Given the description of an element on the screen output the (x, y) to click on. 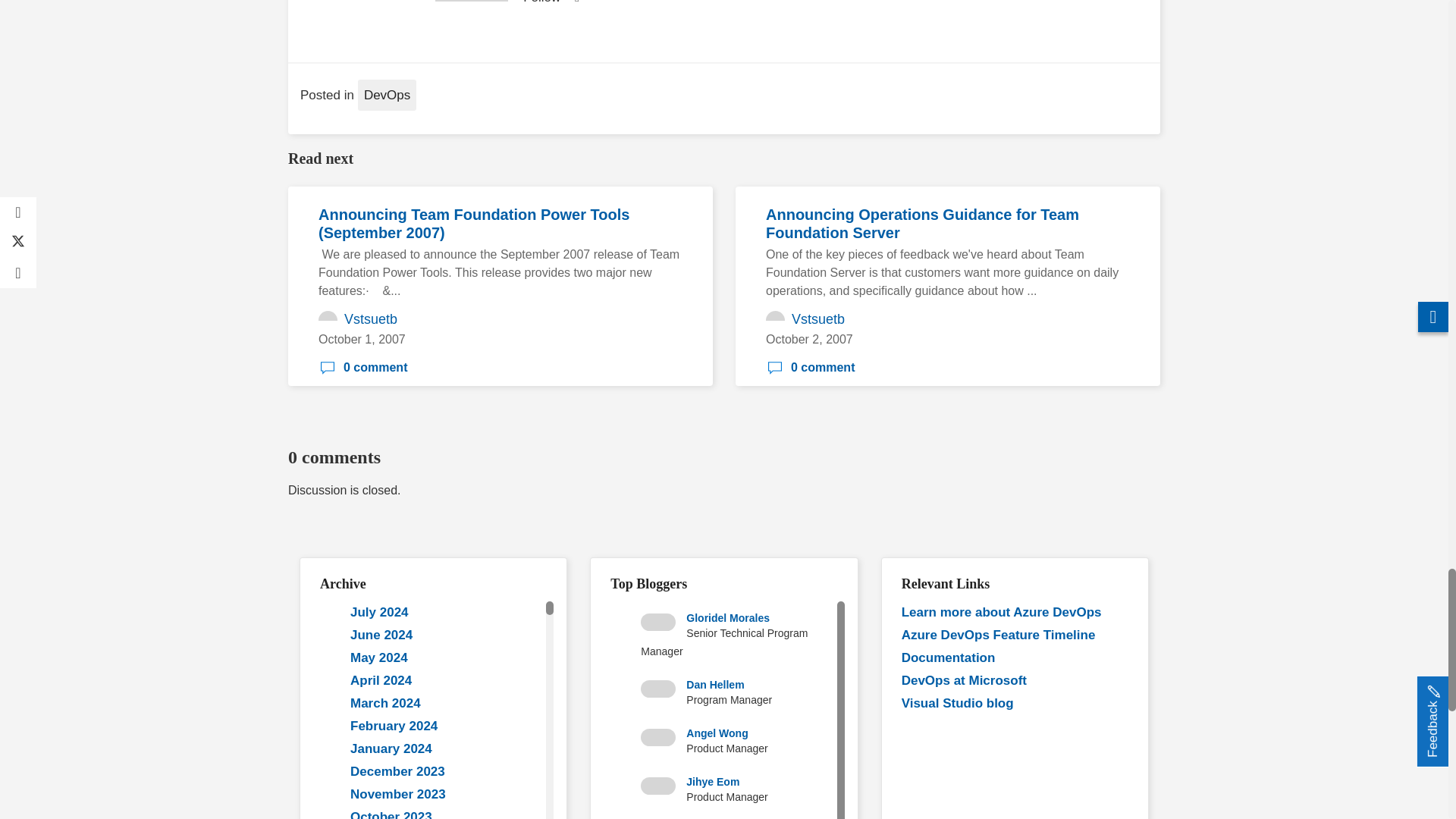
RSS Feed (576, 3)
